Given the description of an element on the screen output the (x, y) to click on. 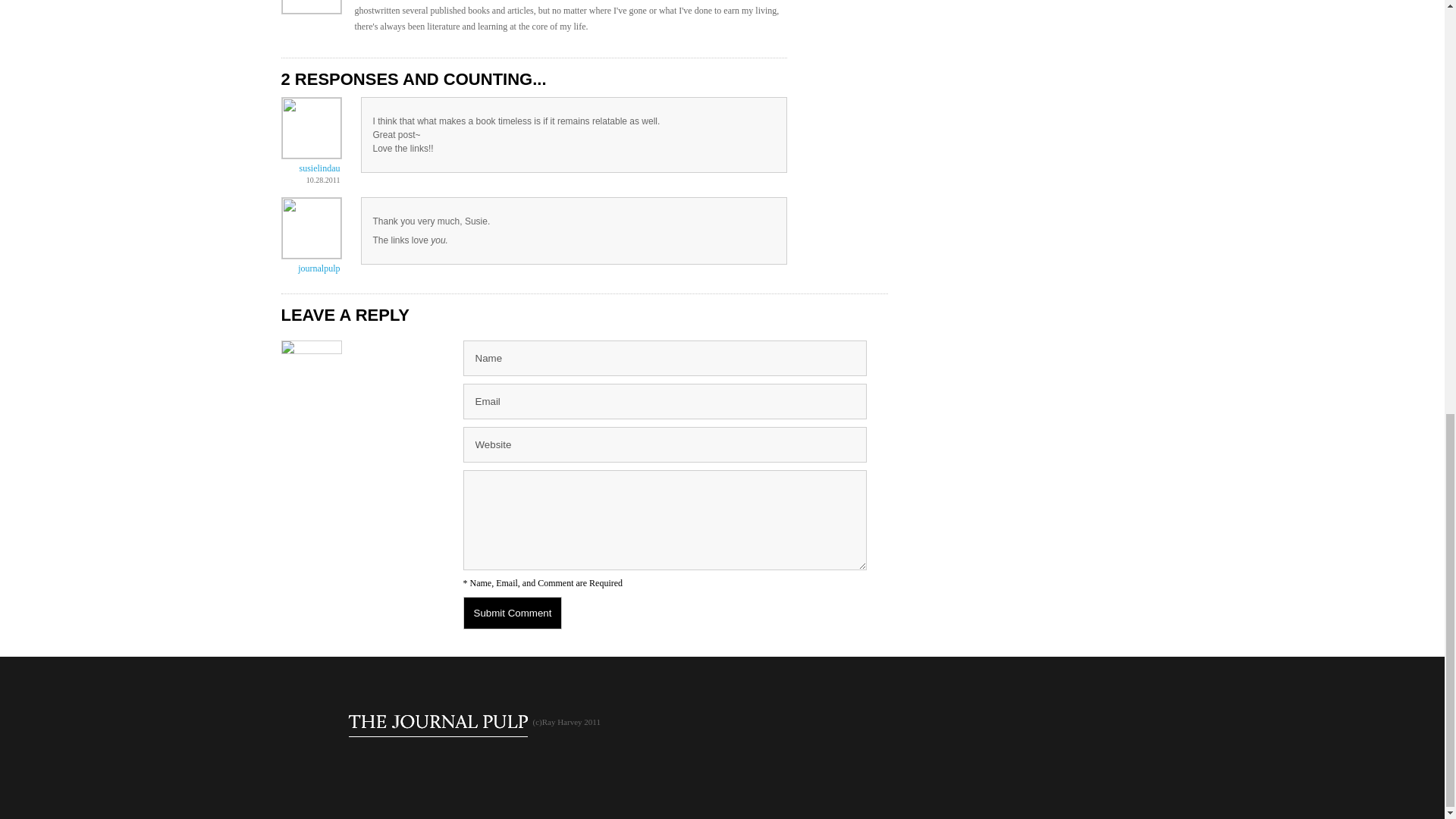
Submit Comment (512, 613)
journalpulp (318, 267)
Submit Comment (512, 613)
Name (664, 357)
susielindau (318, 167)
Website (664, 444)
Email (664, 401)
